Given the description of an element on the screen output the (x, y) to click on. 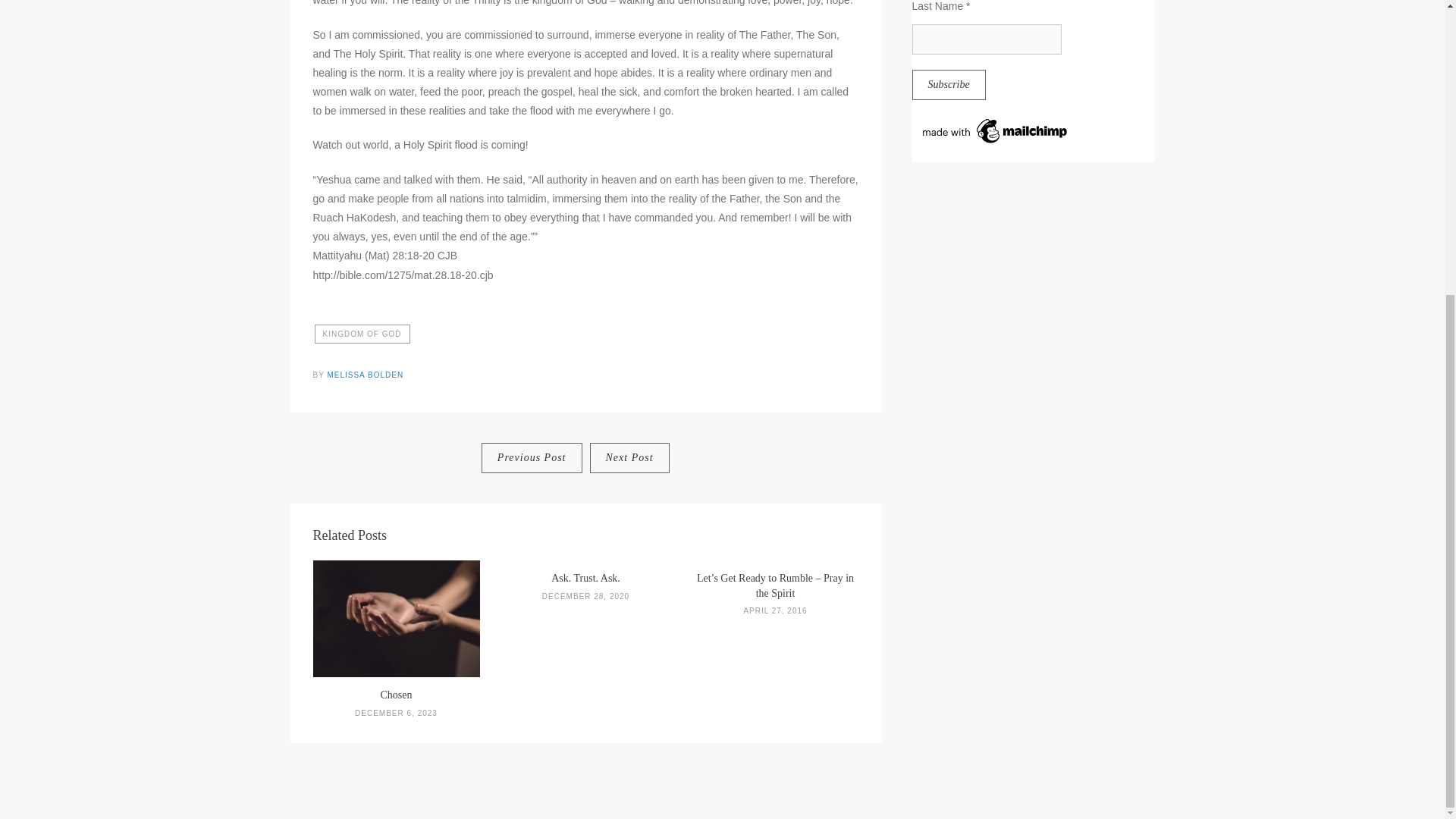
Previous Post (531, 458)
MELISSA BOLDEN (364, 375)
Mailchimp - email marketing made easy and fun (994, 141)
DECEMBER 28, 2020 (584, 596)
APRIL 27, 2016 (774, 610)
Subscribe (948, 84)
KINGDOM OF GOD (361, 333)
DECEMBER 6, 2023 (396, 713)
Ask. Trust. Ask. (585, 578)
Next Post (629, 458)
